Given the description of an element on the screen output the (x, y) to click on. 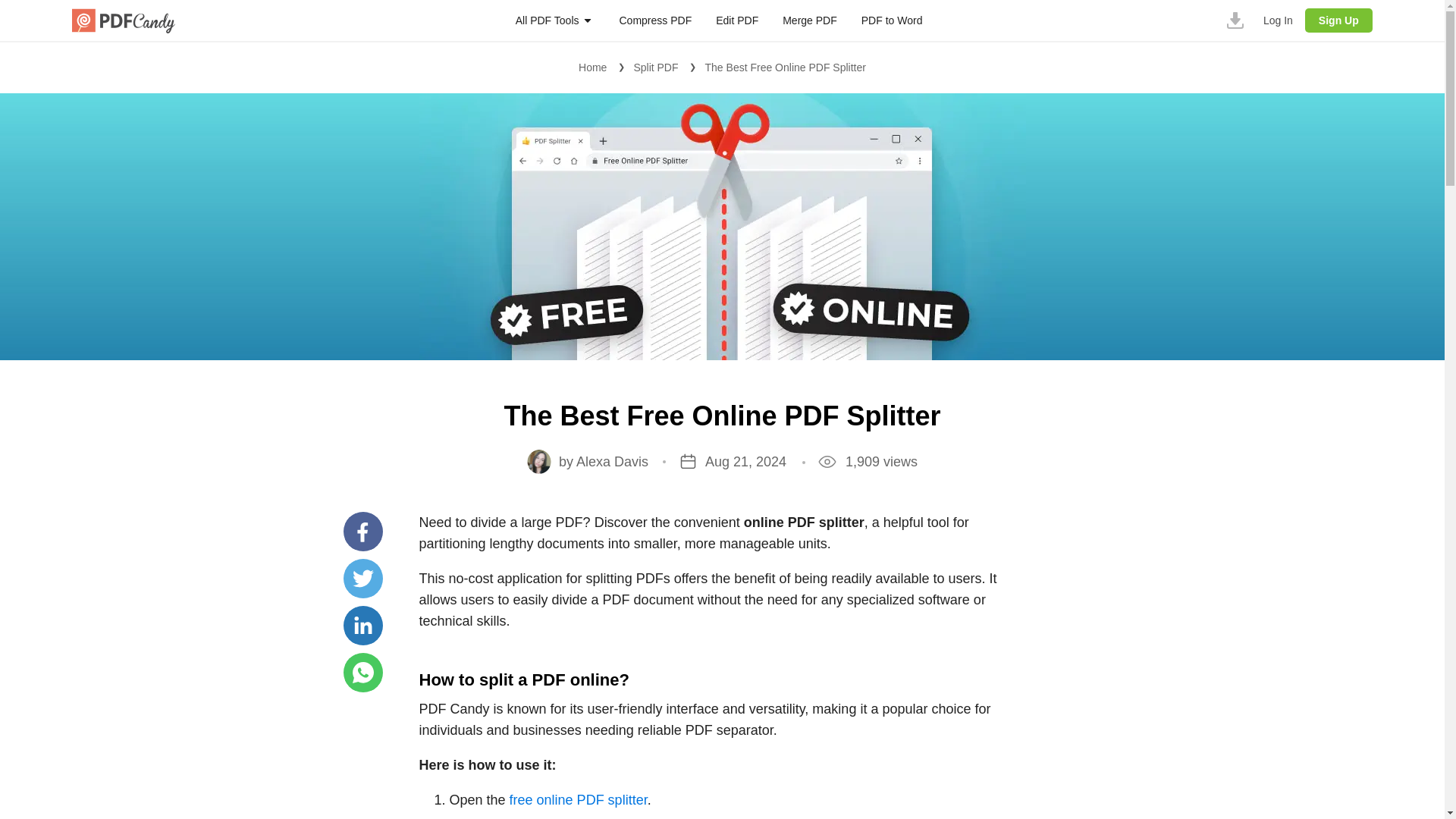
All PDF Tools (547, 20)
Edit PDF (737, 20)
Merge PDF (810, 20)
Share on LinkedIn (361, 625)
Share on Twitter (361, 578)
Share on WhatsApp (361, 672)
Share on Facebook (361, 531)
PDF to Word (892, 20)
PDFCandy (122, 19)
